Given the description of an element on the screen output the (x, y) to click on. 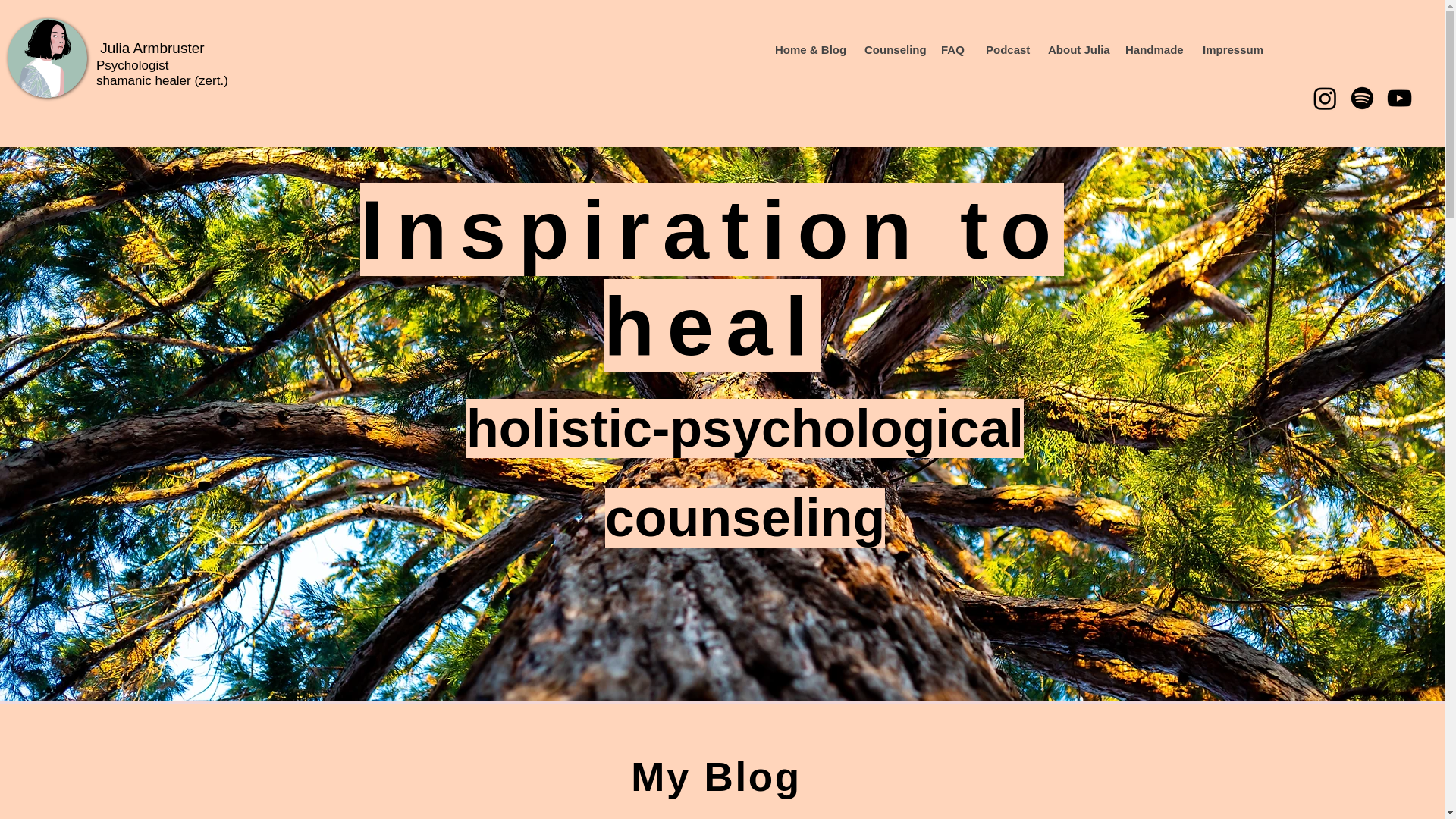
 Julia Armbruster (150, 48)
Psychologist  (133, 65)
